Given the description of an element on the screen output the (x, y) to click on. 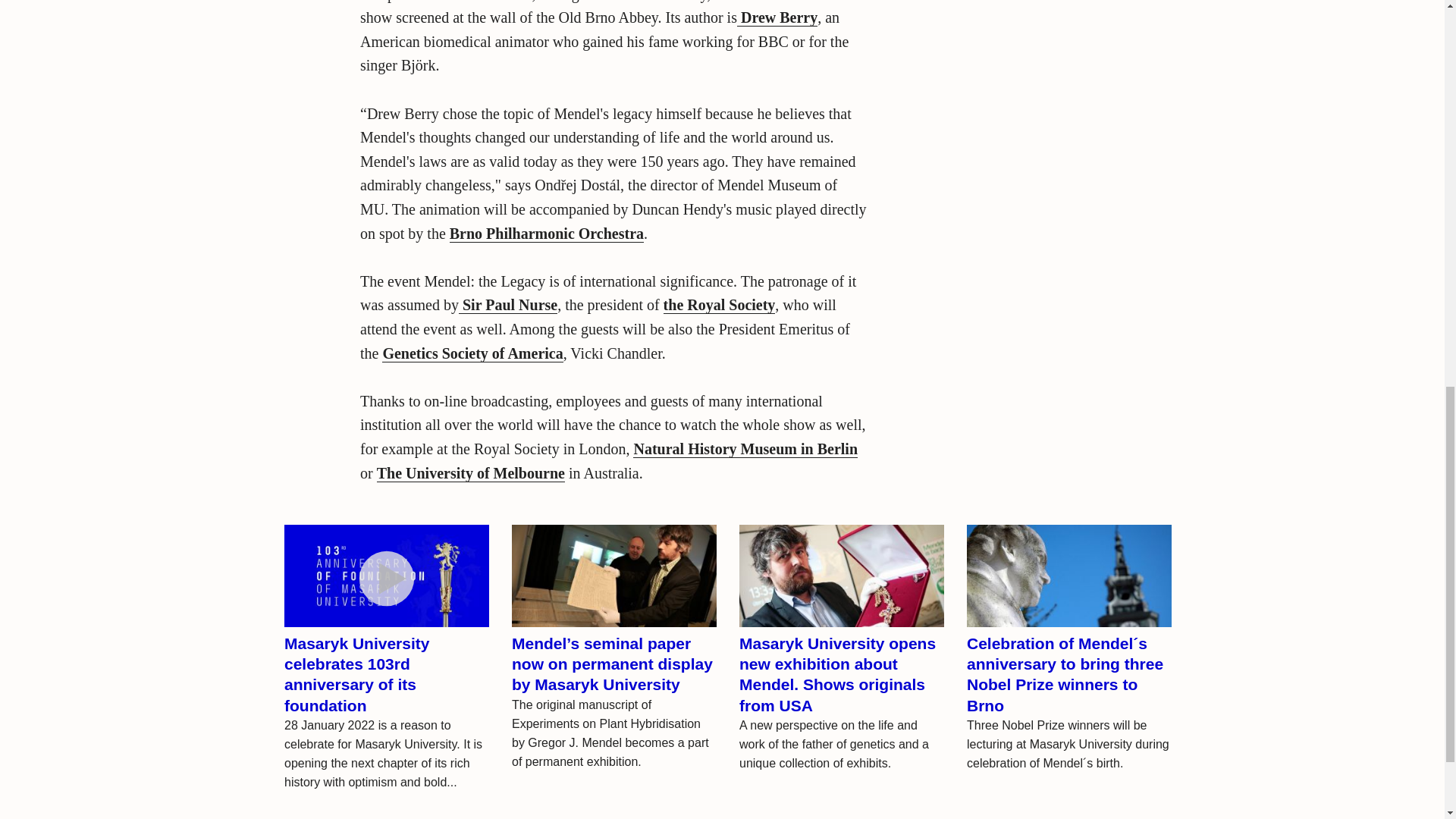
Natural History Museum in Berlin (745, 448)
Drew Berry (776, 17)
Sir Paul Nurse (507, 304)
Genetics Society of America (471, 353)
Brno Philharmonic Orchestra (546, 233)
the Royal Society (719, 304)
The University of Melbourne (470, 473)
